Given the description of an element on the screen output the (x, y) to click on. 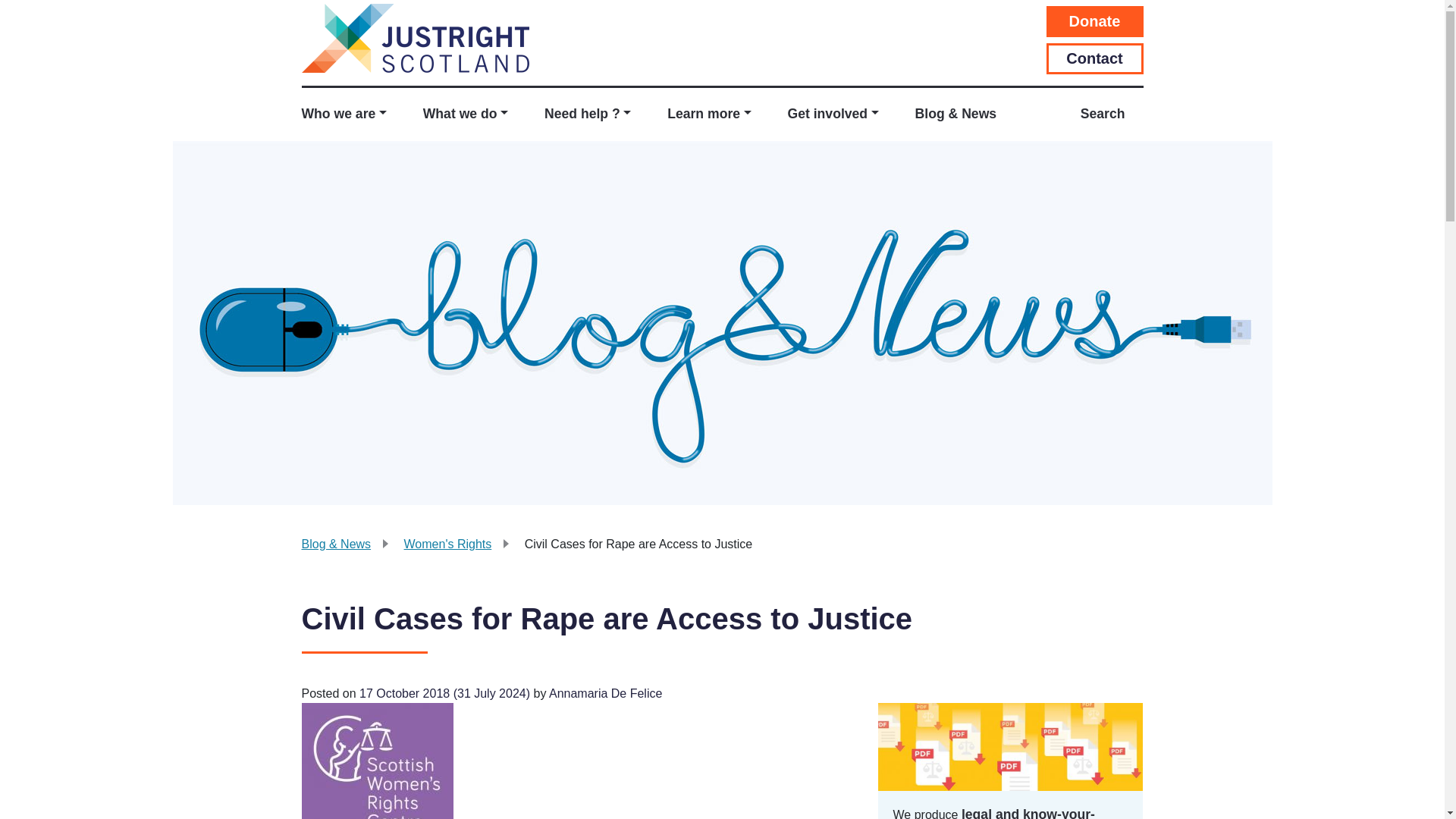
Women's Rights (448, 543)
Annamaria De Felice (604, 693)
Contact (1094, 58)
Get involved (832, 114)
Who we are (352, 114)
Need help ? (587, 114)
What we do (464, 114)
Learn more (708, 114)
Donate (1094, 20)
Go to the Women's Rights category archives. (448, 543)
Search (1102, 114)
